Given the description of an element on the screen output the (x, y) to click on. 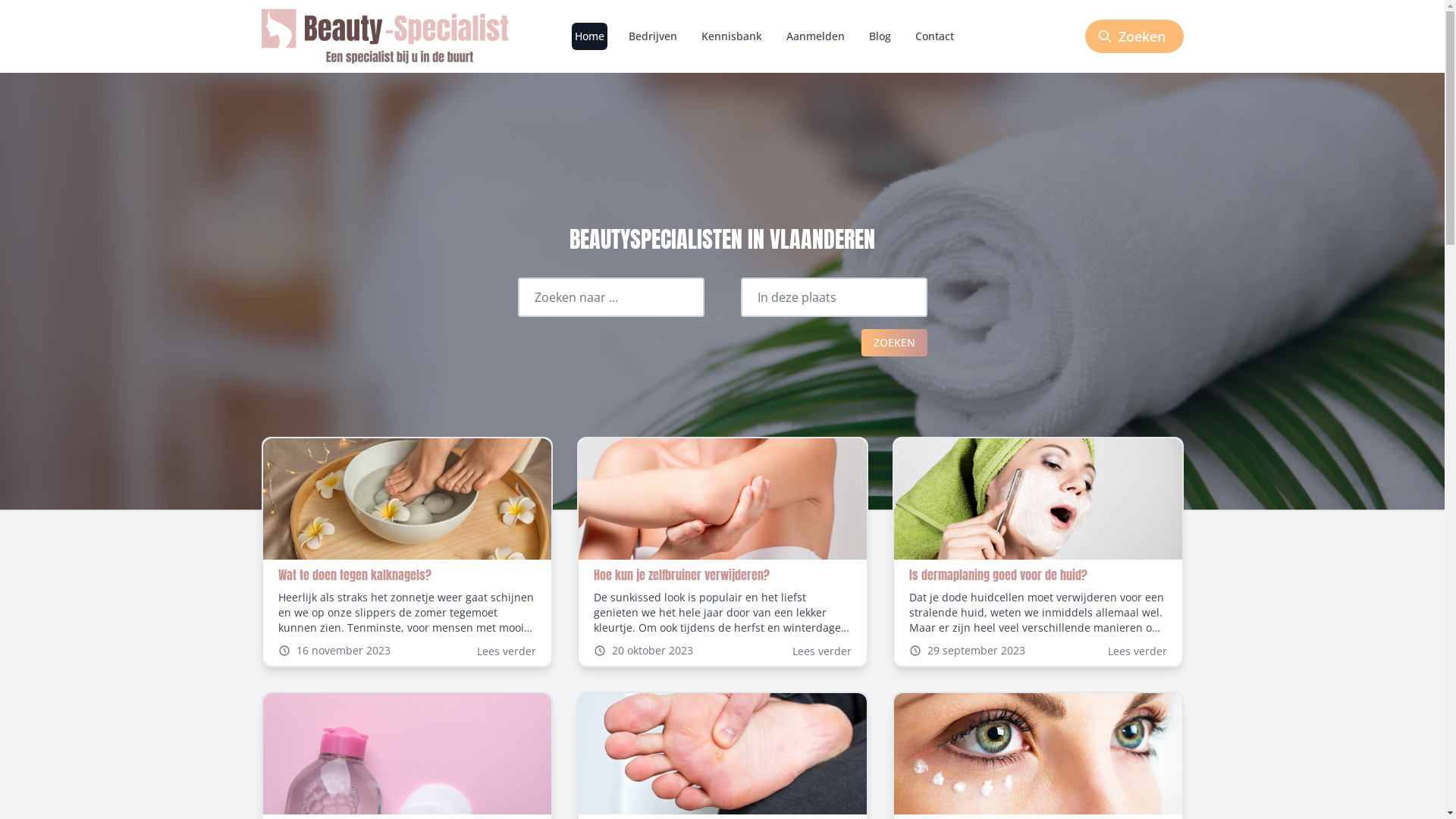
Bedrijven Element type: text (652, 36)
Zoeken naar bedrijven
Zoeken Element type: text (1133, 36)
Aanmelden Element type: text (815, 36)
Kennisbank Element type: text (731, 36)
Beautyspecialisten in vlaanderen Element type: hover (400, 36)
Blog Element type: text (880, 36)
Lees verder Element type: text (505, 650)
ZOEKEN Element type: text (894, 342)
Is dermaplaning goed voor de huid? Element type: text (997, 574)
Lees verder Element type: text (1136, 650)
Home Element type: text (589, 36)
Contact Element type: text (934, 36)
Wat te doen tegen kalknagels? Element type: text (353, 574)
Hoe kun je zelfbruiner verwijderen? Element type: text (680, 574)
Lees verder Element type: text (820, 650)
